Given the description of an element on the screen output the (x, y) to click on. 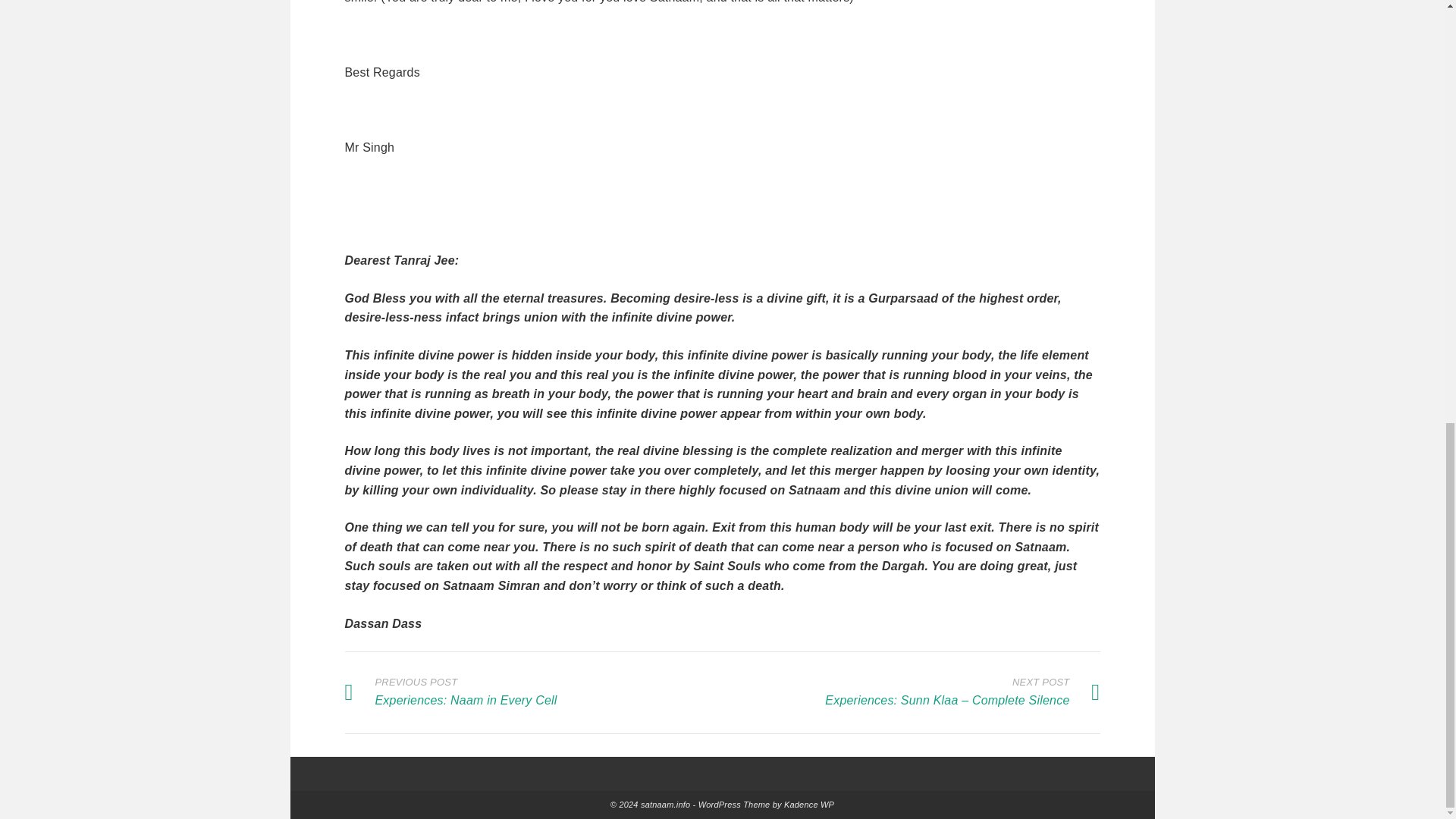
Kadence WP (809, 804)
